Given the description of an element on the screen output the (x, y) to click on. 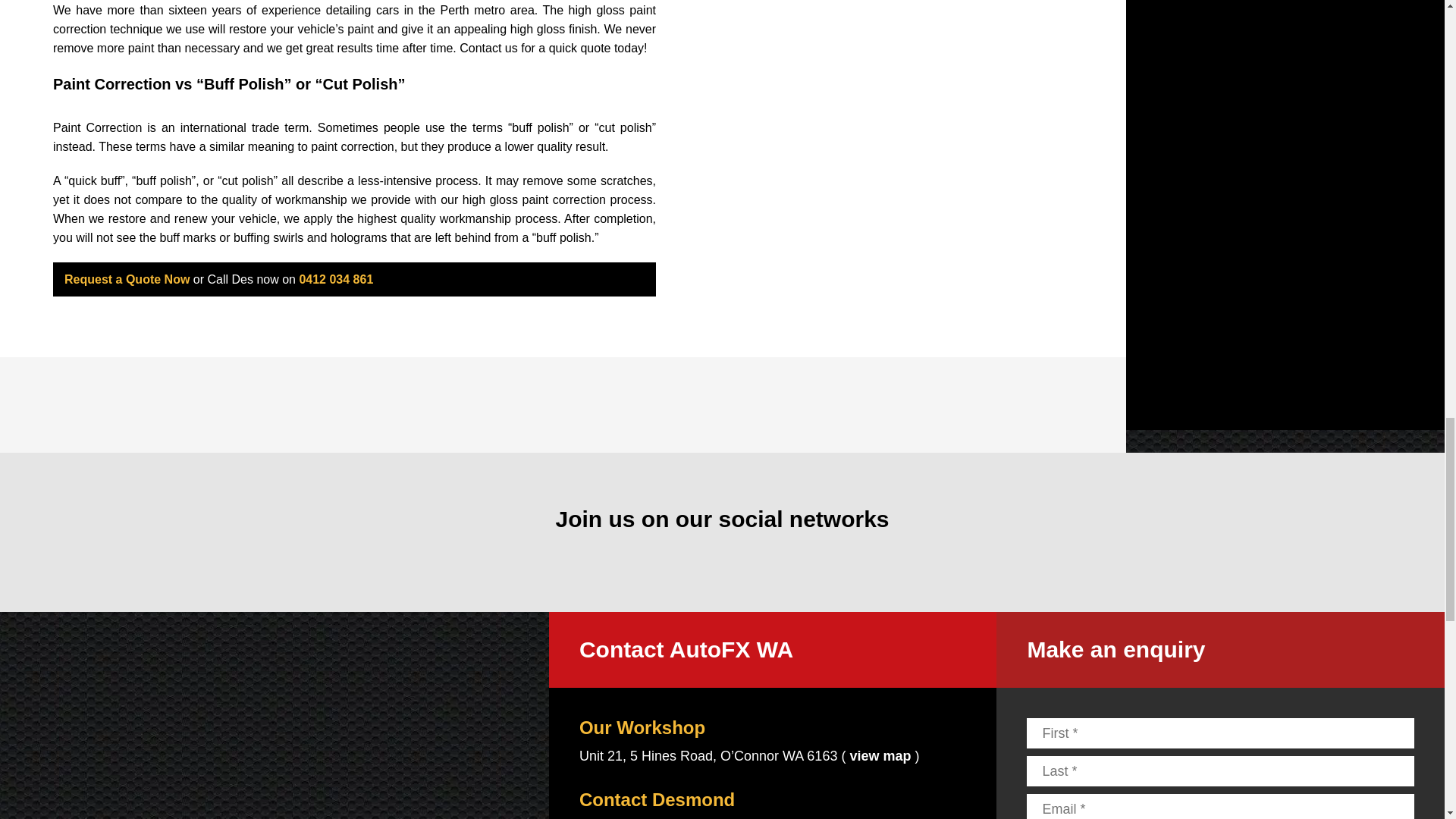
view map on googlemap (879, 755)
